Given the description of an element on the screen output the (x, y) to click on. 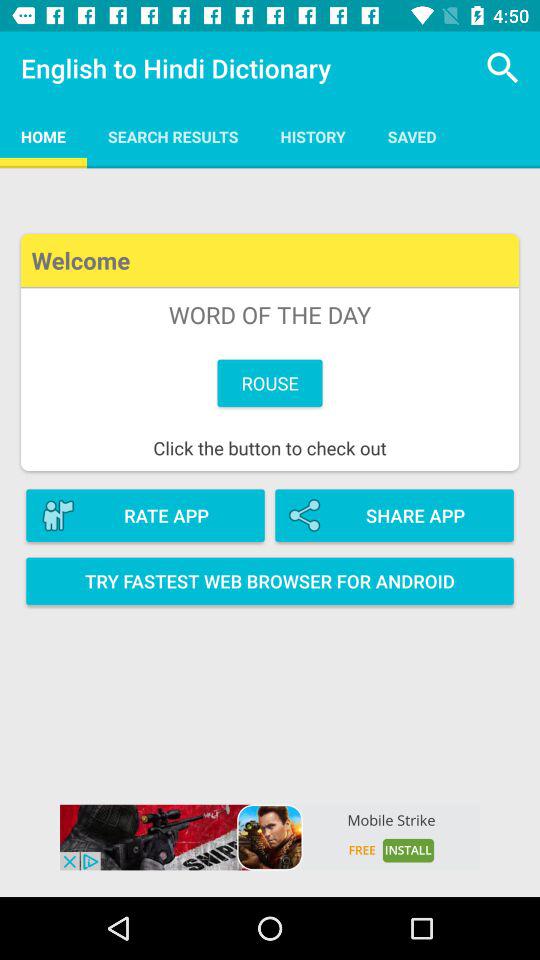
advertisement link (270, 837)
